Given the description of an element on the screen output the (x, y) to click on. 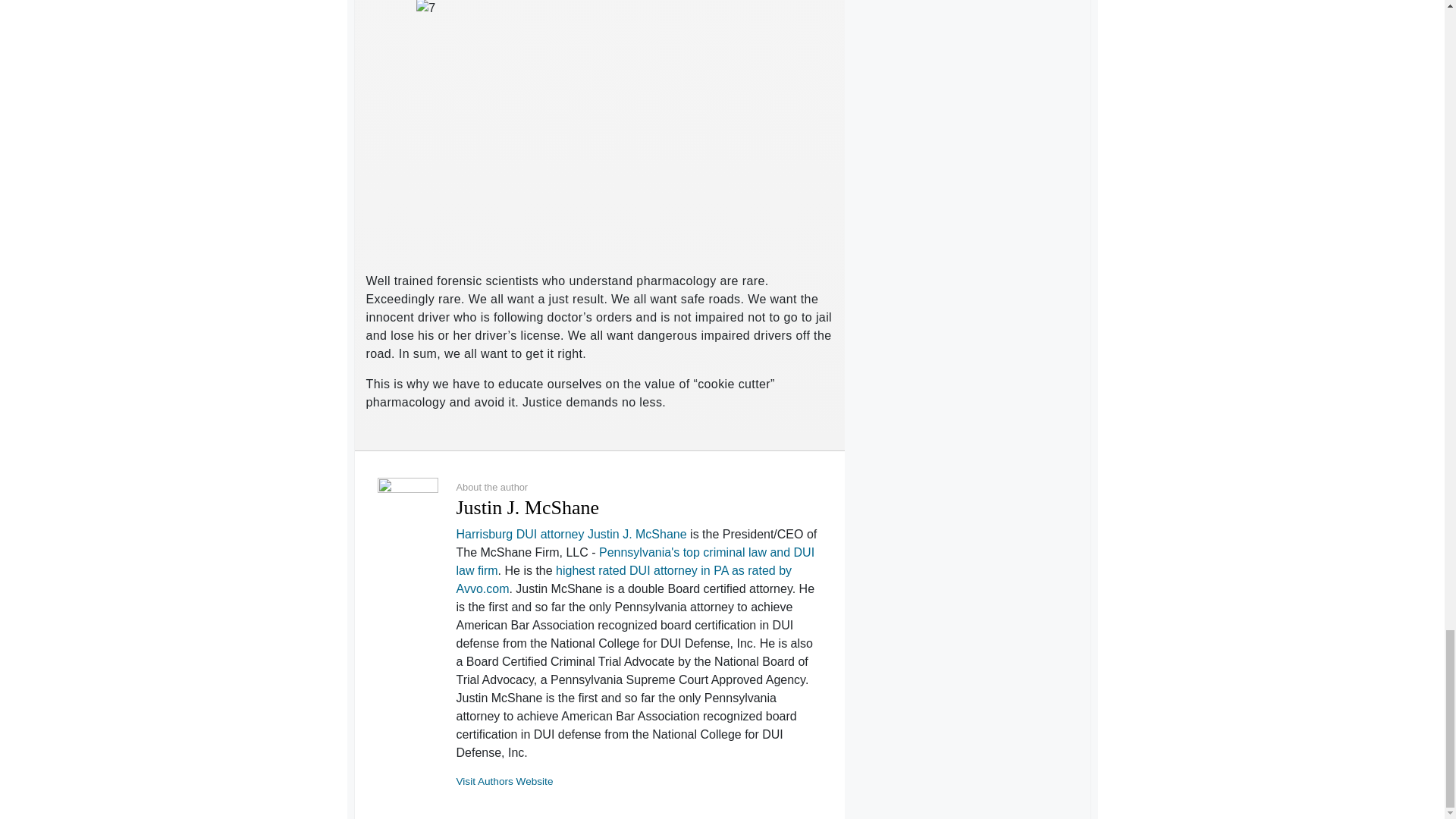
Harrisburg DUI attorney (521, 533)
highest rated DUI attorney in PA as rated by Avvo.com (624, 579)
Harrisburg DUI attorney (521, 533)
Visit Authors Website (505, 781)
Pennsylvania DUI Lawyers (636, 561)
Justin J. McShane (637, 533)
Pennsylvania's top criminal law and DUI law firm (636, 561)
highest rated DUI attorney in PA (624, 579)
Justin J. McShane (637, 533)
